Given the description of an element on the screen output the (x, y) to click on. 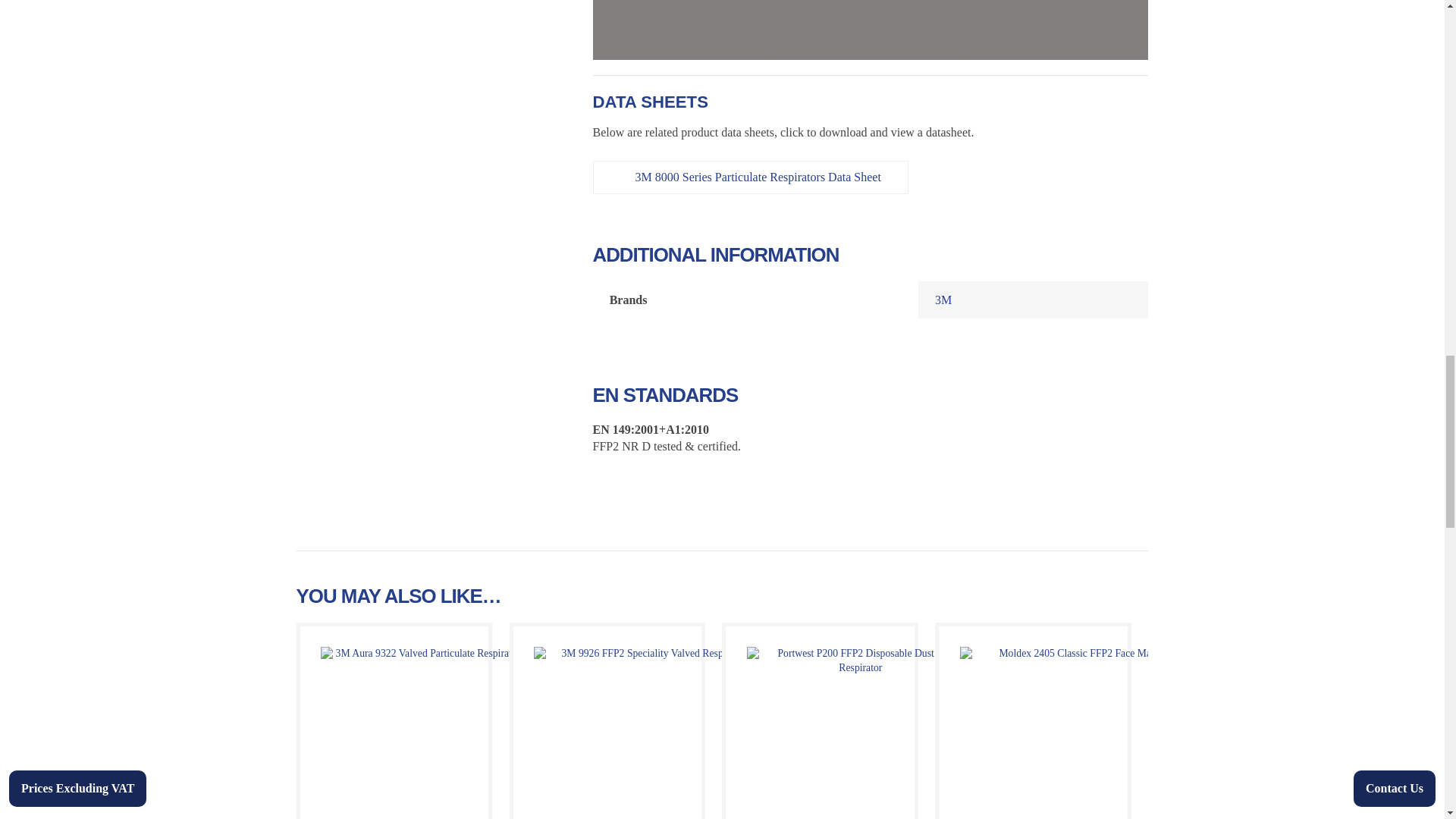
click here to download (757, 176)
